Given the description of an element on the screen output the (x, y) to click on. 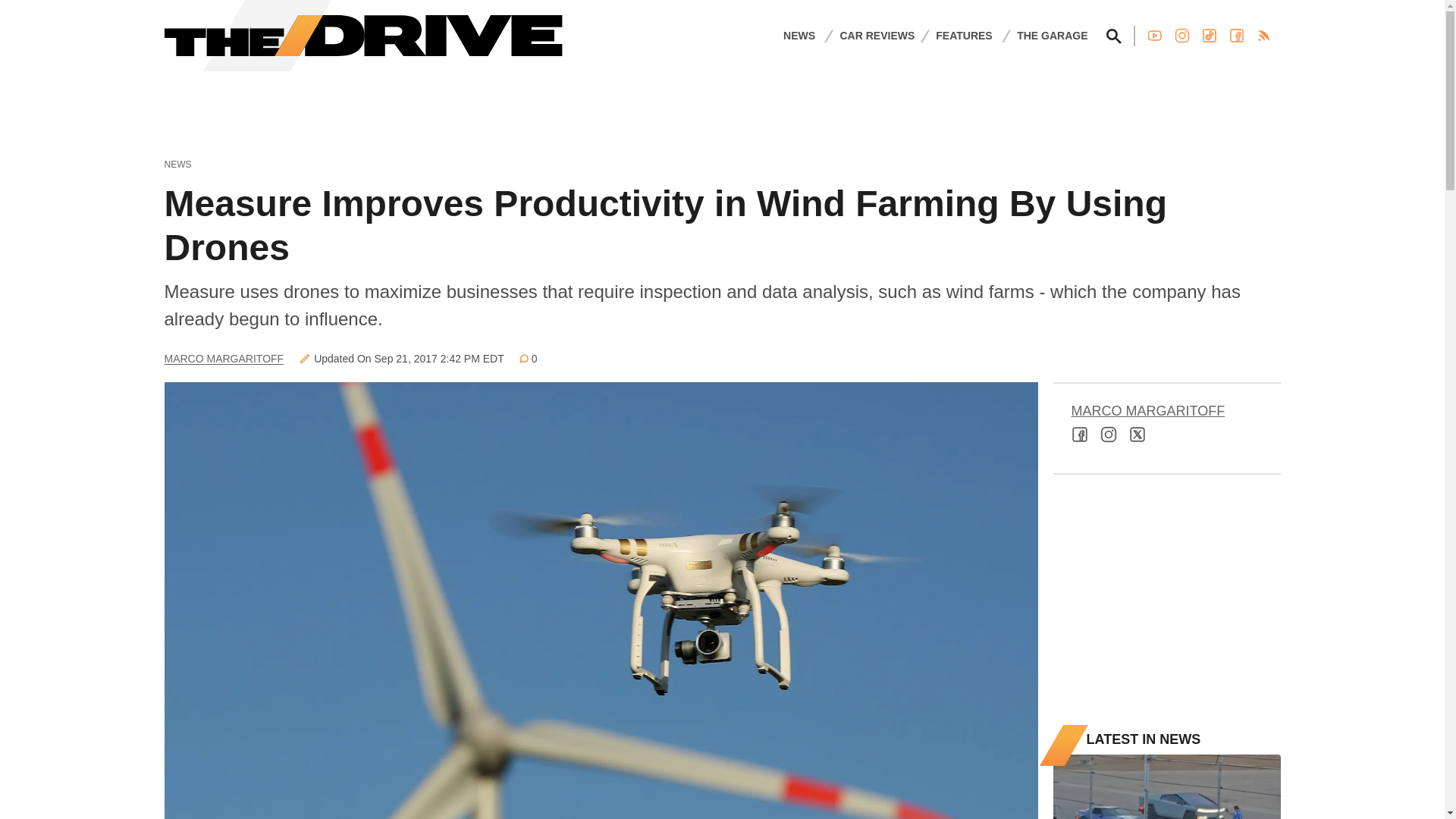
NEWS (799, 34)
